Given the description of an element on the screen output the (x, y) to click on. 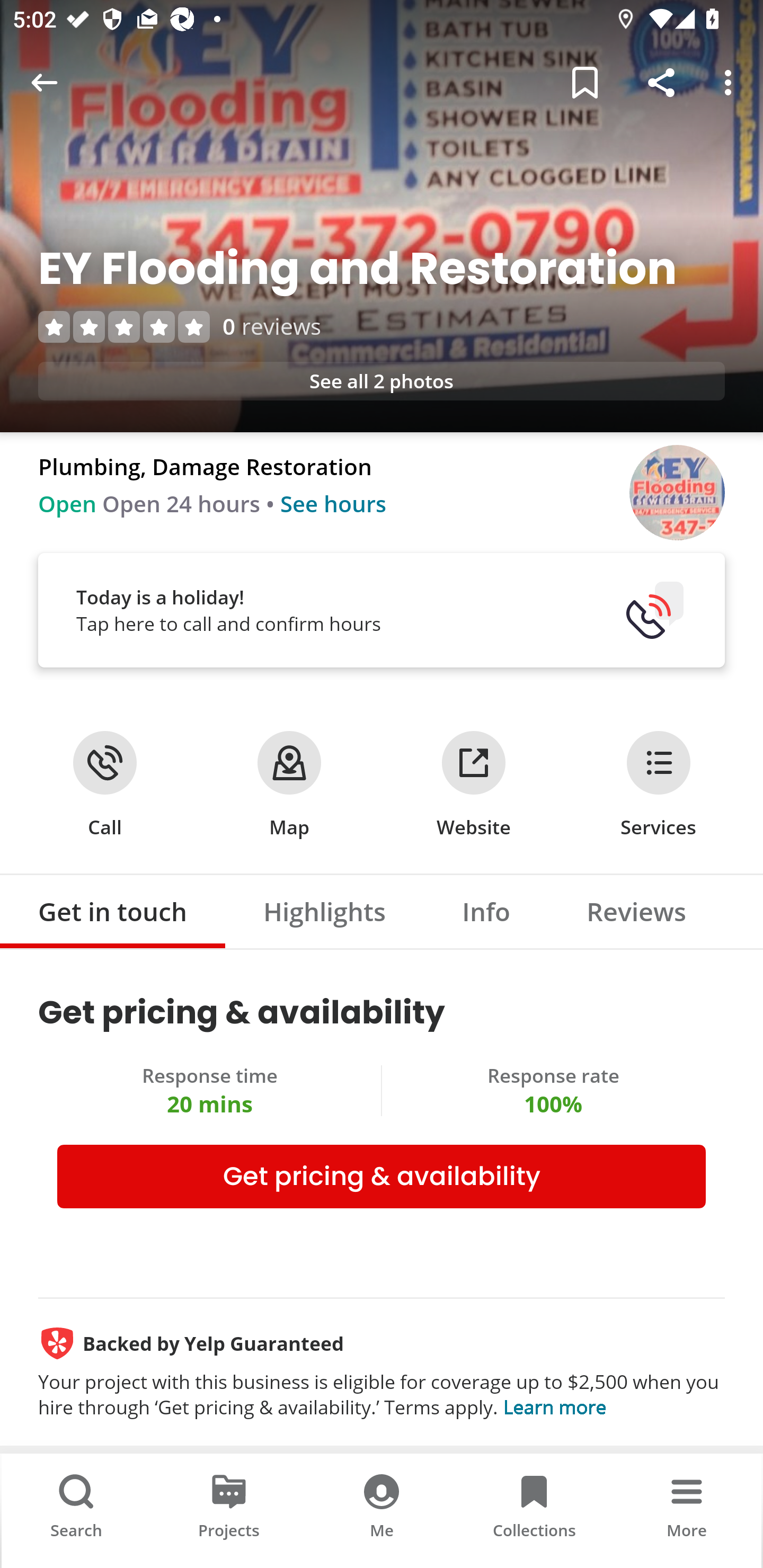
Info (486, 911)
